Given the description of an element on the screen output the (x, y) to click on. 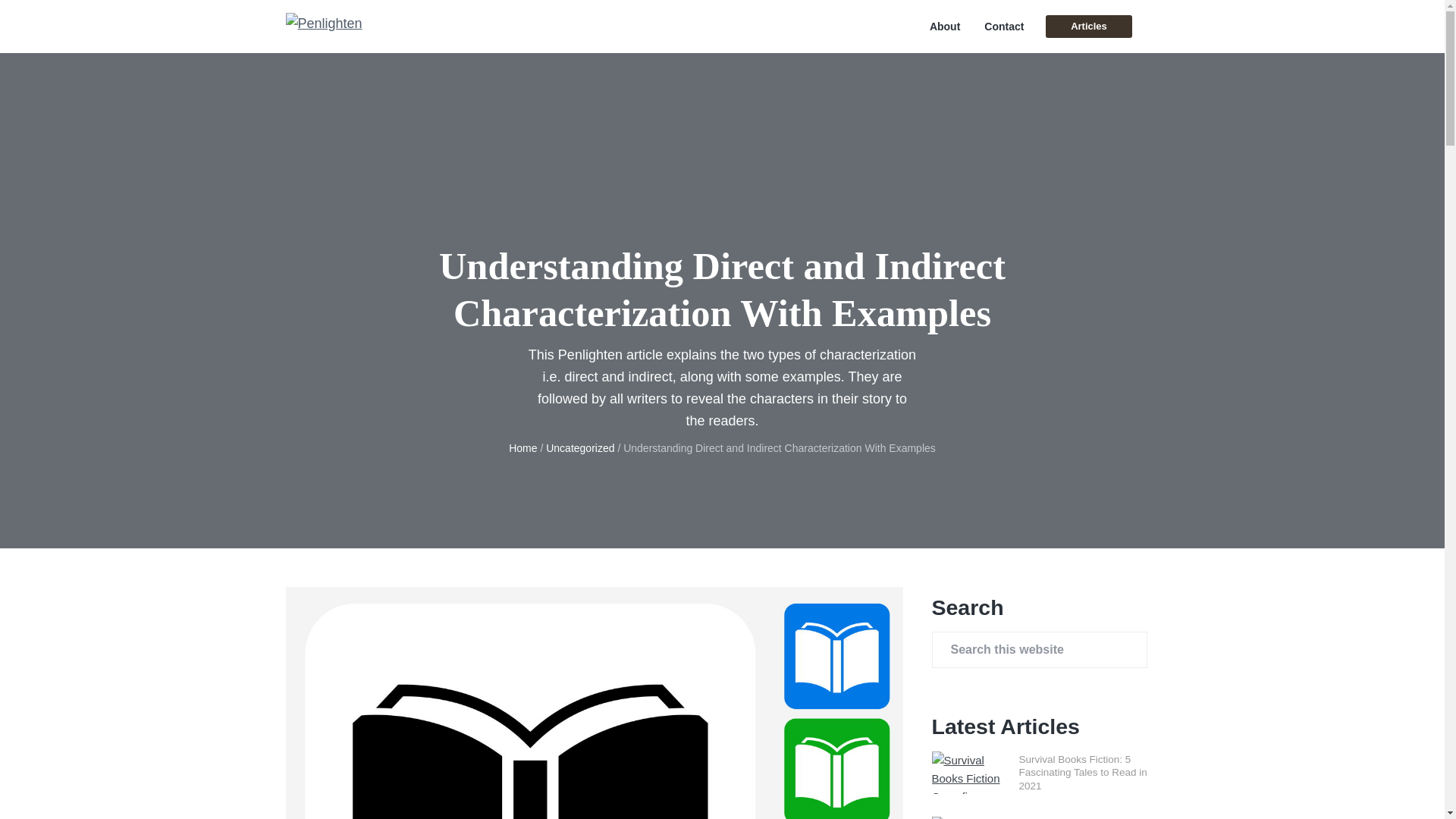
Articles (1087, 25)
About (944, 27)
Contact (1003, 27)
Search (60, 18)
Survival Books Fiction: 5 Fascinating Tales to Read in 2021 (1083, 772)
Uncategorized (580, 448)
Home (522, 448)
